Given the description of an element on the screen output the (x, y) to click on. 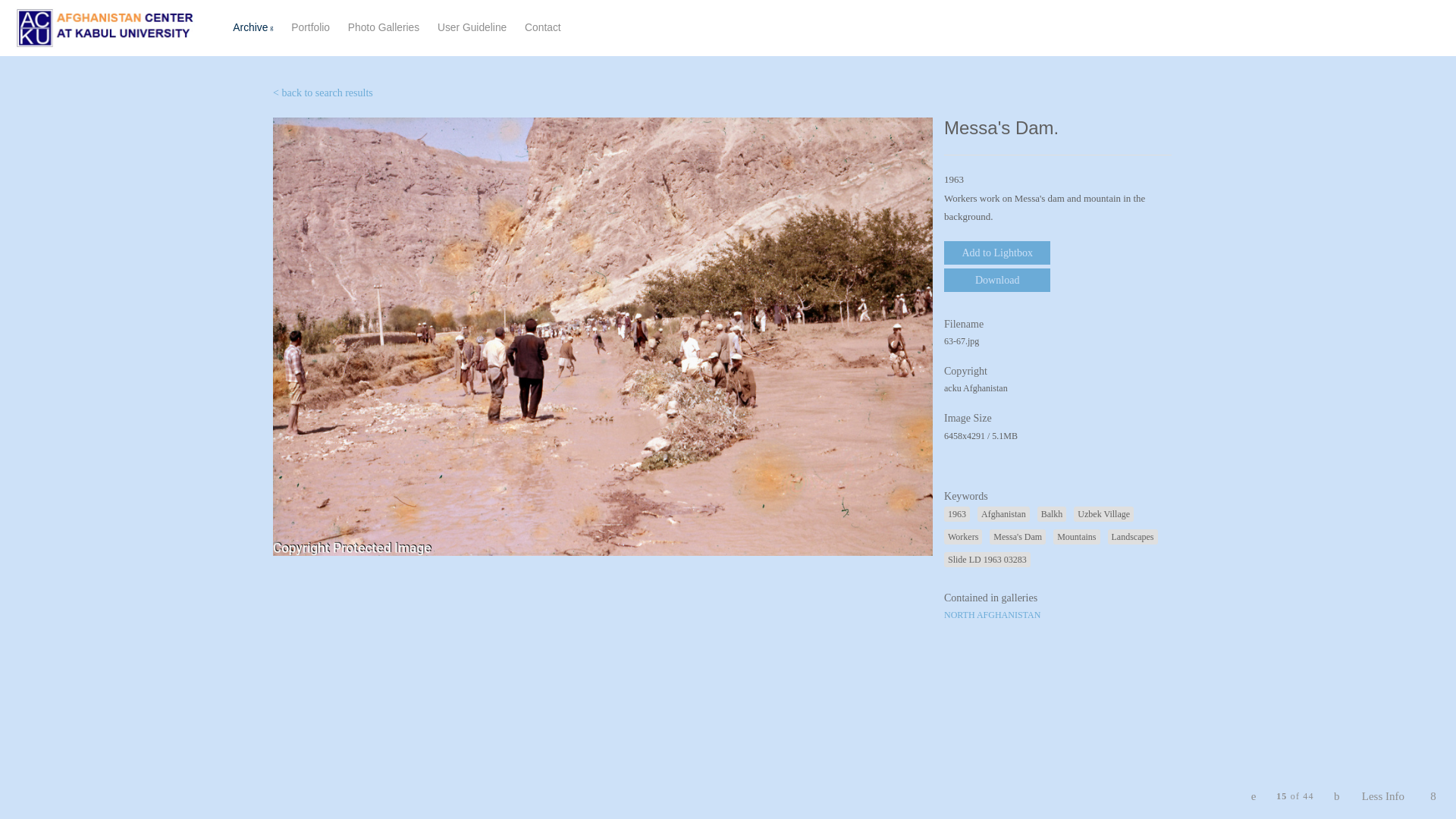
Landscapes (1132, 536)
Download (996, 279)
Afghanistan (1002, 513)
Slide LD 1963 03283 (986, 559)
back to search results (322, 92)
Workers (962, 536)
1963 (956, 513)
Balkh (1051, 513)
NORTH AFGHANISTAN (992, 614)
Afghanistan Centre at Kabul University (105, 27)
Portfolio (403, 28)
Messa's Dam (310, 27)
Contact (1017, 536)
Uzbek Village (542, 27)
